Given the description of an element on the screen output the (x, y) to click on. 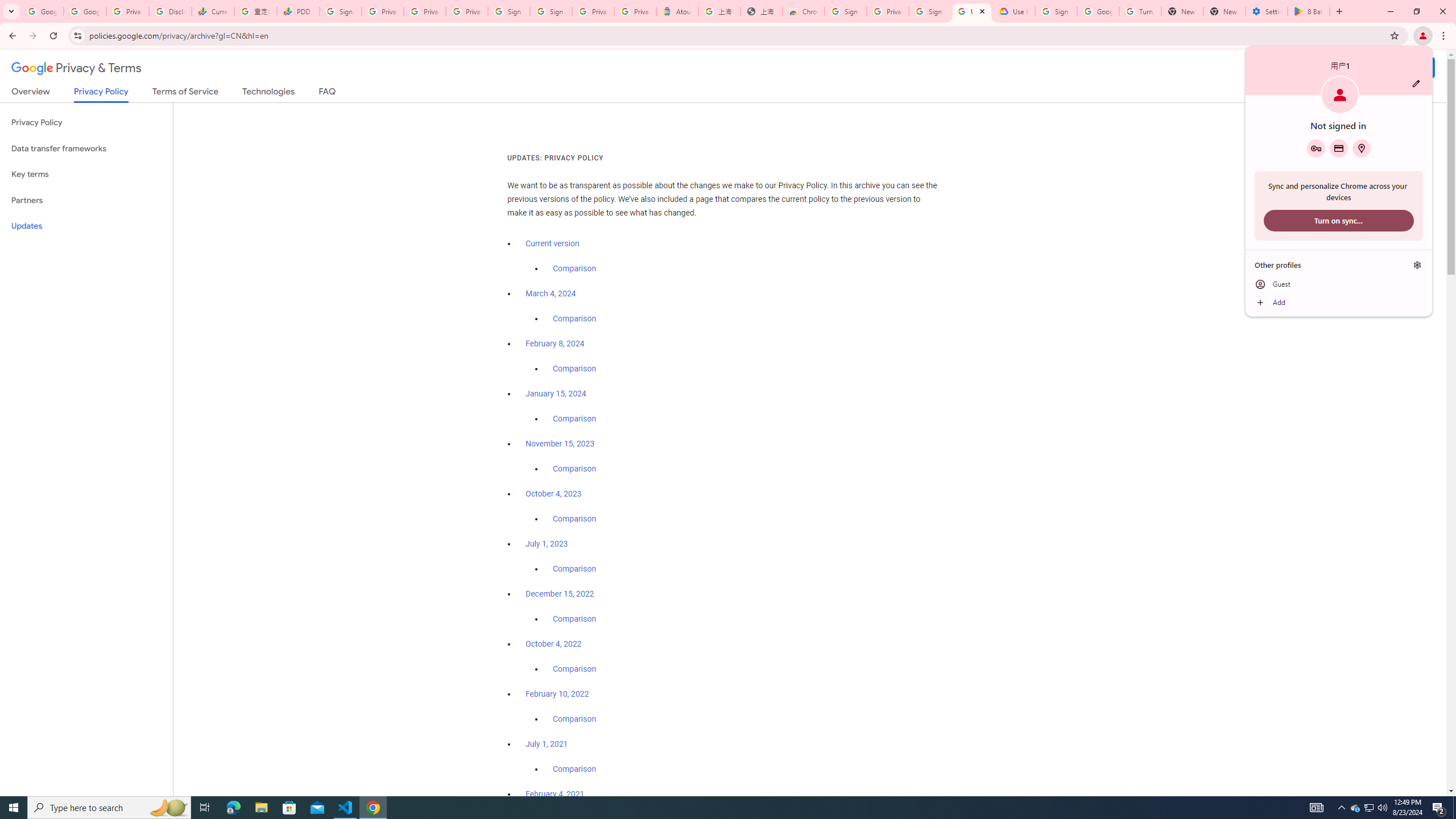
Guest (1338, 284)
Running applications (717, 807)
Currencies - Google Finance (212, 11)
October 4, 2023 (553, 493)
Atour Hotel - Google hotels (676, 11)
October 4, 2022 (553, 643)
Action Center, 2 new notifications (1439, 807)
Chrome Web Store - Color themes by Chrome (803, 11)
Current version (552, 243)
